Given the description of an element on the screen output the (x, y) to click on. 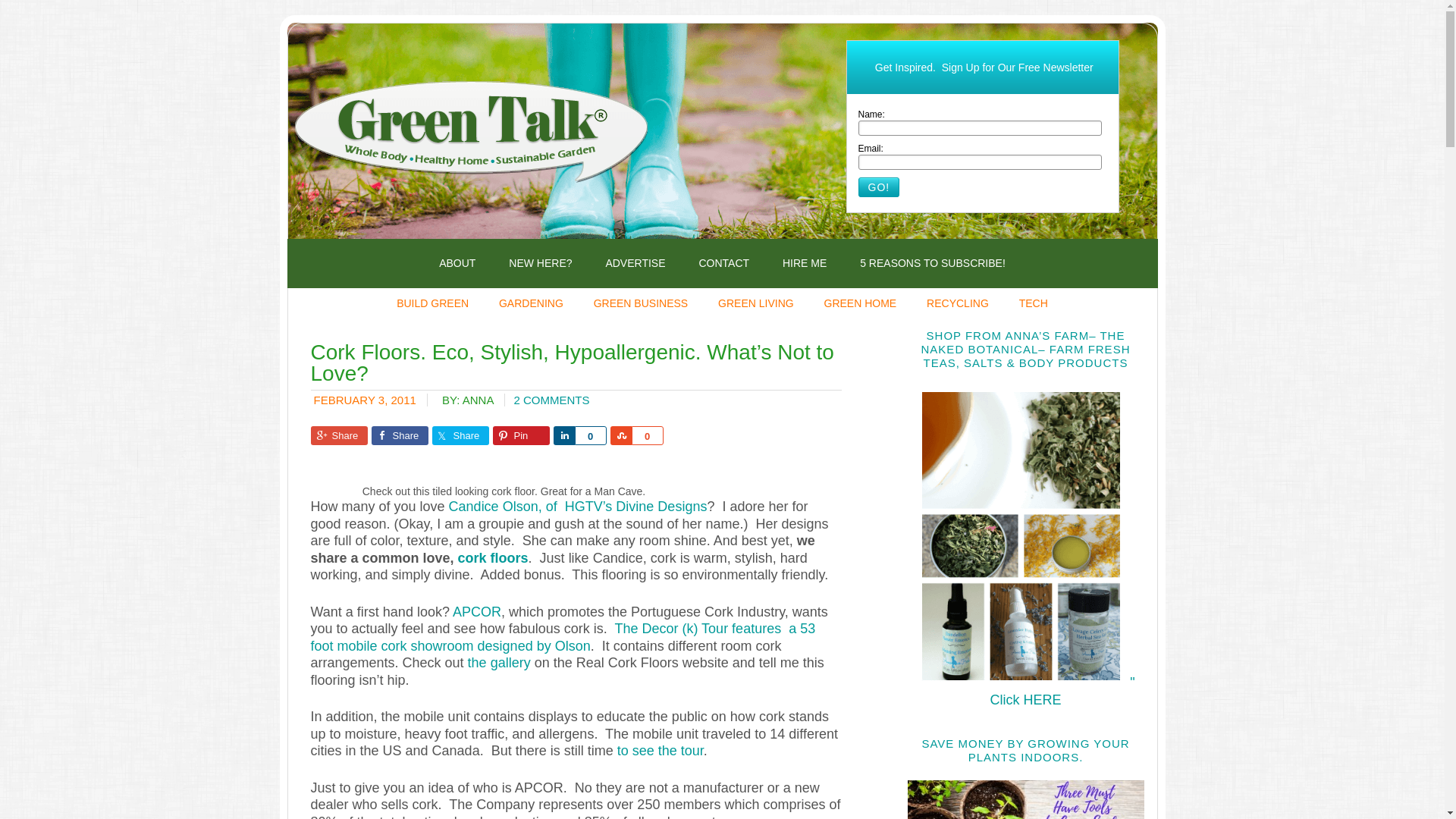
Pin (521, 435)
Go! (879, 187)
NEW HERE? (539, 263)
GREEN BUSINESS (640, 303)
0 (646, 435)
2 COMMENTS (551, 399)
Share (339, 435)
Share (620, 435)
RECYCLING (957, 303)
Share (460, 435)
Share (399, 435)
Share (564, 435)
CONTACT (723, 263)
GREEN LIVING (756, 303)
APCOR (476, 611)
